Given the description of an element on the screen output the (x, y) to click on. 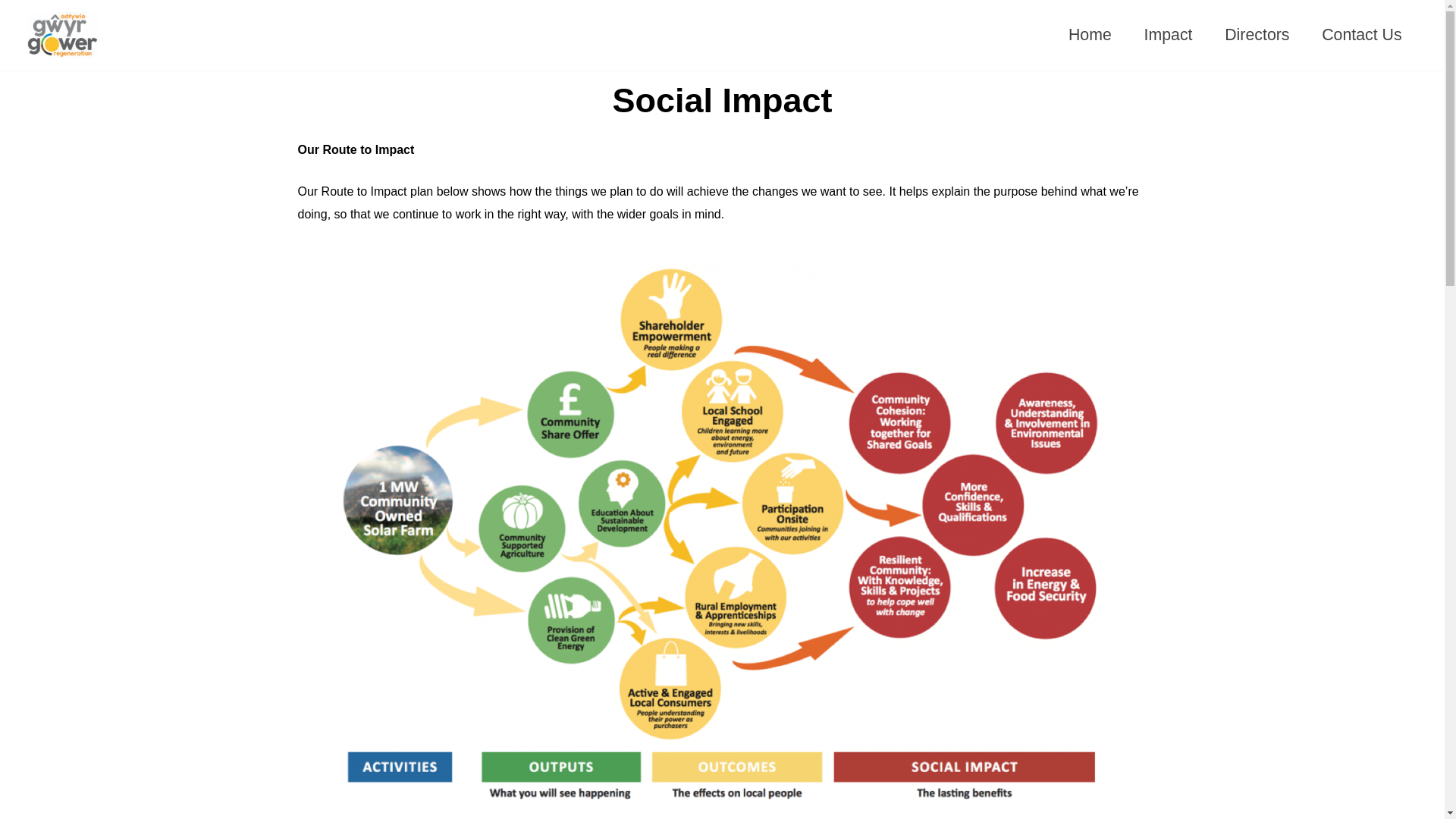
Contact Us (1362, 34)
Directors (1257, 34)
Home (1090, 34)
Impact (1167, 34)
